Given the description of an element on the screen output the (x, y) to click on. 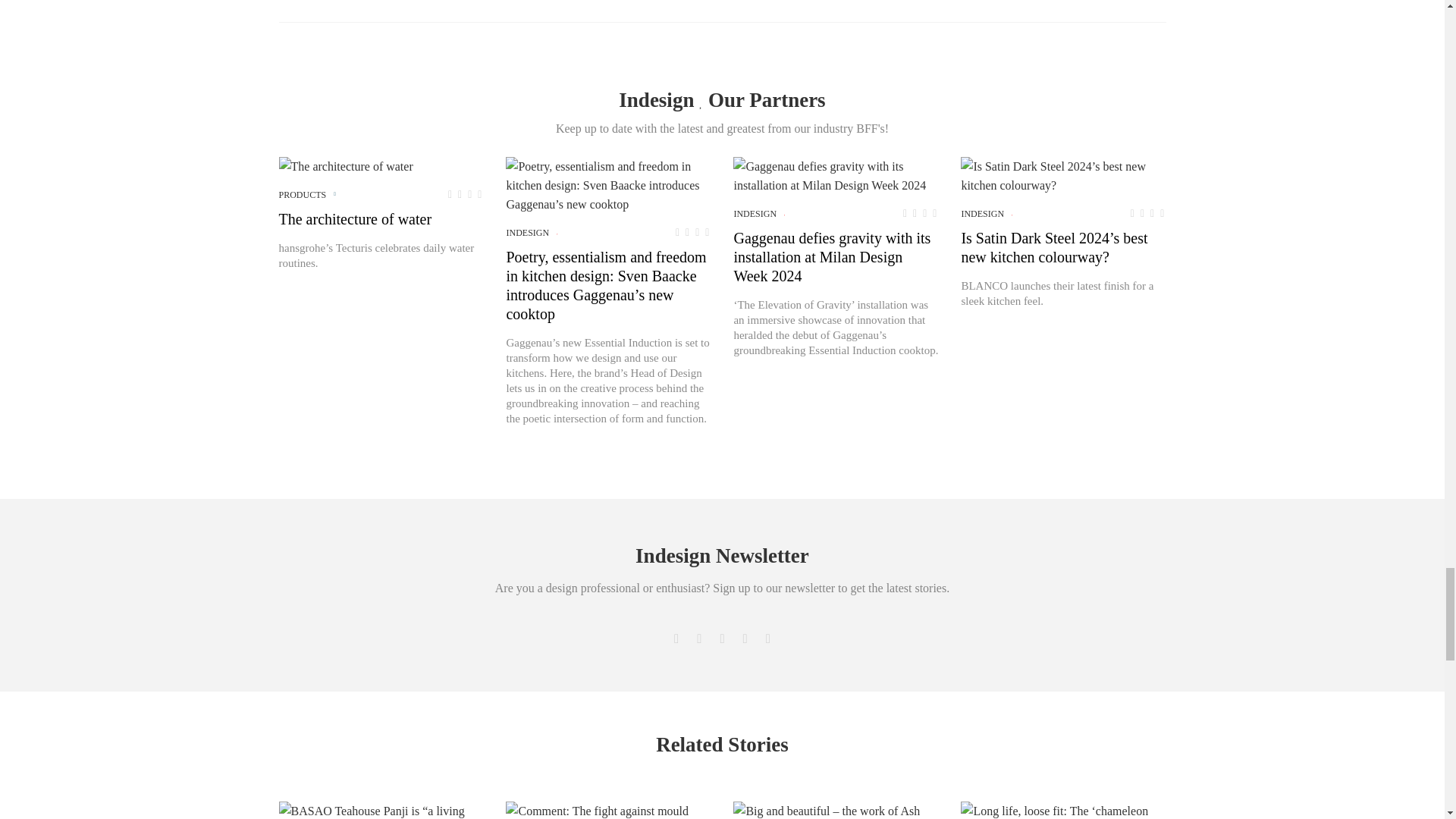
The architecture of water (346, 166)
Comment: The fight against mould (596, 810)
